Given the description of an element on the screen output the (x, y) to click on. 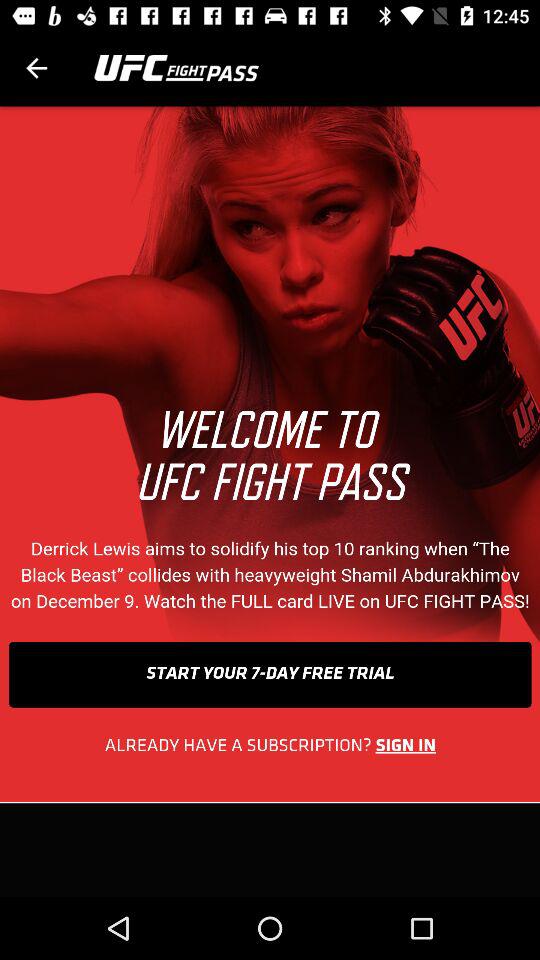
pack page (36, 68)
